Given the description of an element on the screen output the (x, y) to click on. 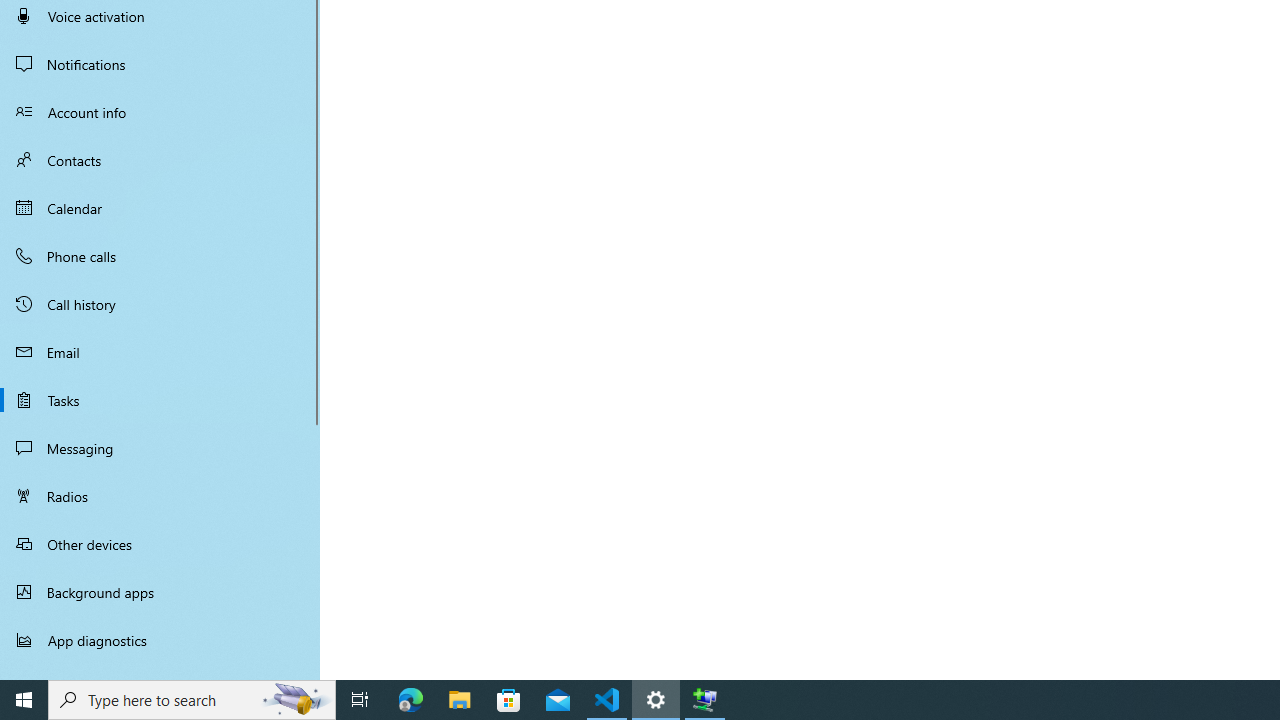
Automatic file downloads (160, 671)
App diagnostics (160, 639)
Settings - 1 running window (656, 699)
Other devices (160, 543)
Calendar (160, 207)
Account info (160, 111)
Radios (160, 495)
